Given the description of an element on the screen output the (x, y) to click on. 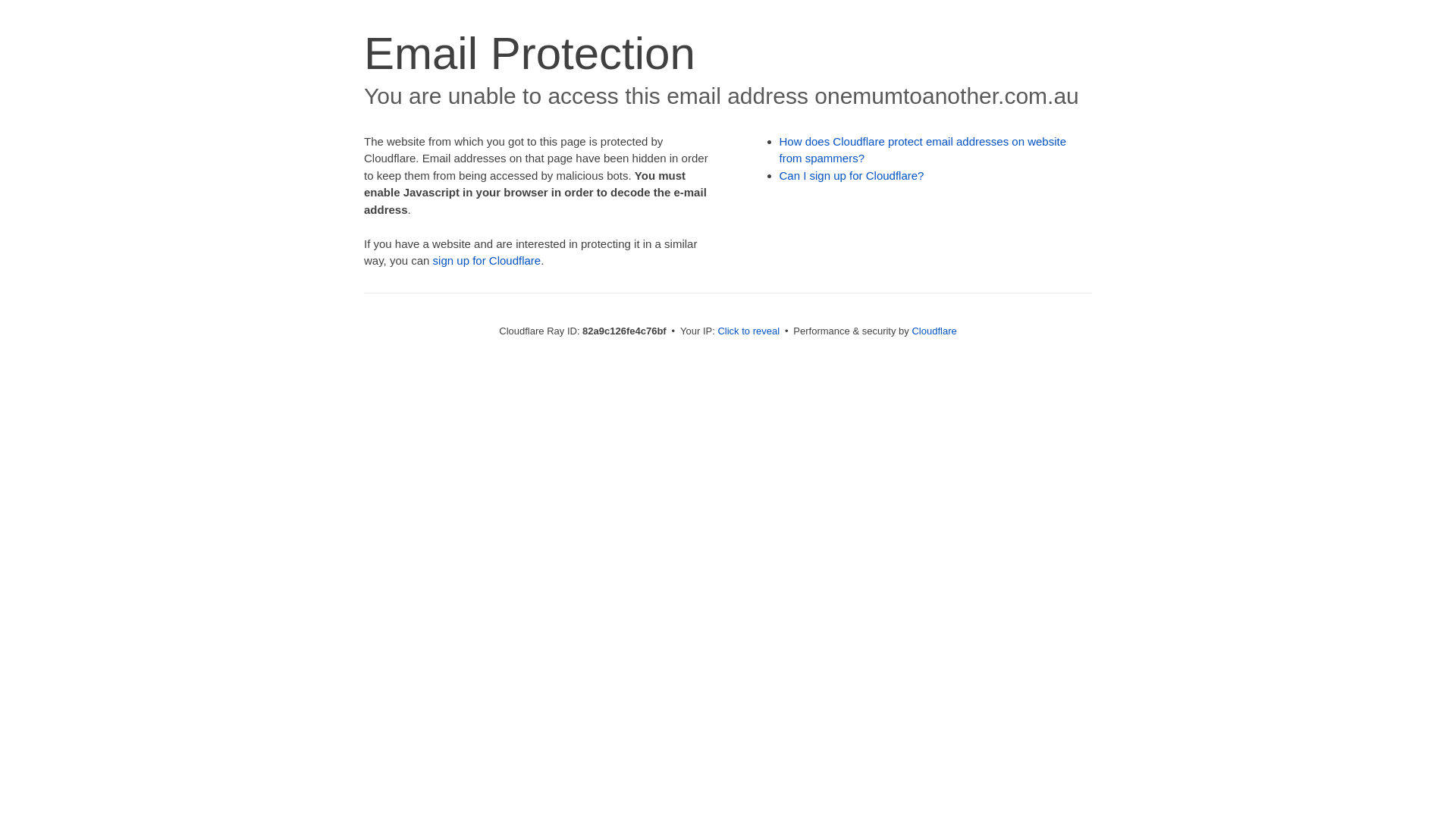
sign up for Cloudflare Element type: text (487, 260)
Can I sign up for Cloudflare? Element type: text (851, 175)
Click to reveal Element type: text (748, 330)
Cloudflare Element type: text (933, 330)
